Given the description of an element on the screen output the (x, y) to click on. 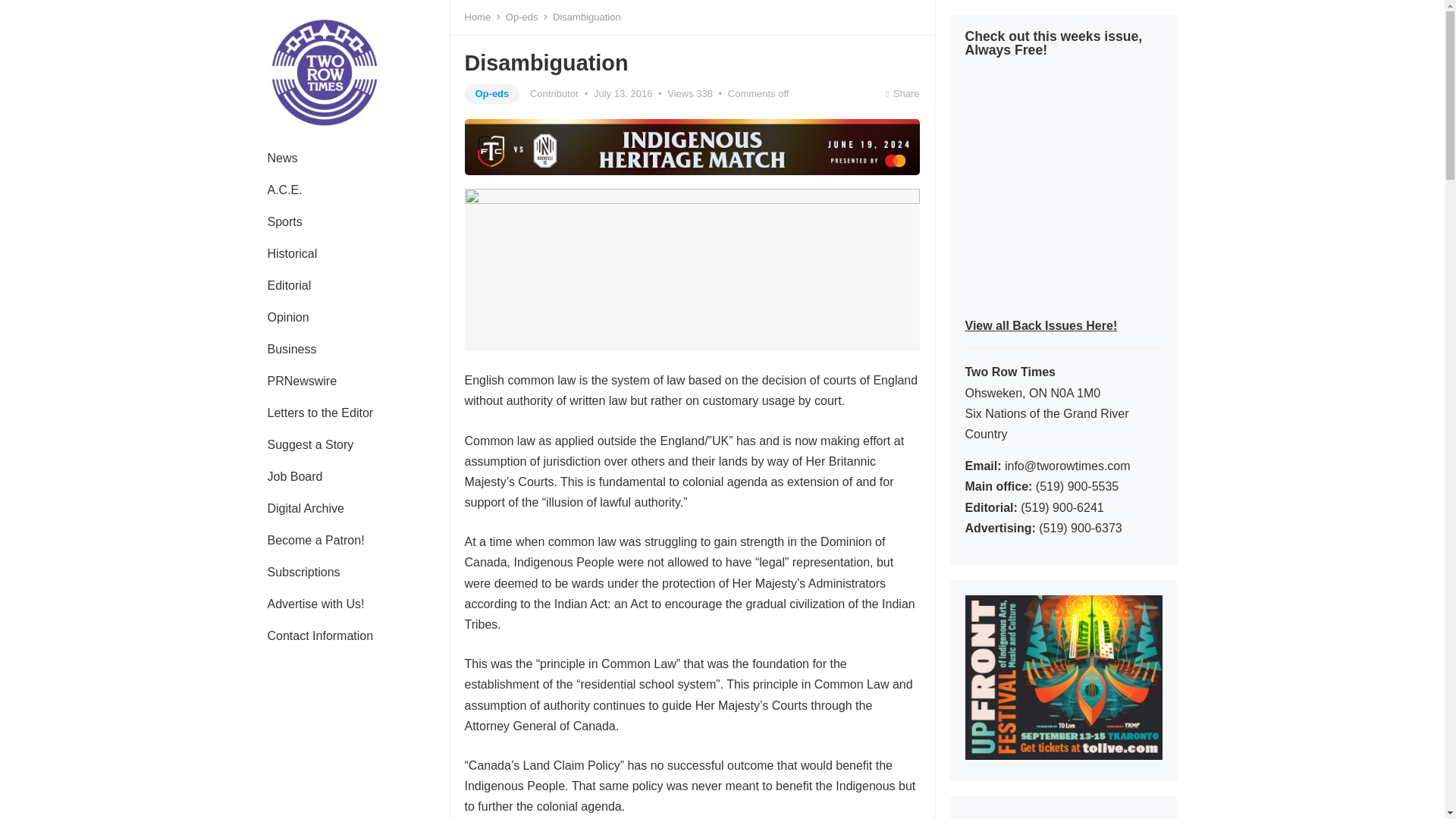
Contact Information (319, 635)
Digital Archive (304, 508)
PRNewswire (301, 381)
Job Board (294, 477)
Suggest a Story (309, 445)
Historical (291, 254)
Become a Patron! (314, 540)
Sports (284, 222)
Home (482, 16)
Advertise with Us! (314, 603)
News (282, 158)
Opinion (287, 317)
A.C.E. (284, 190)
Subscriptions (303, 572)
Posts by Contributor (553, 93)
